Given the description of an element on the screen output the (x, y) to click on. 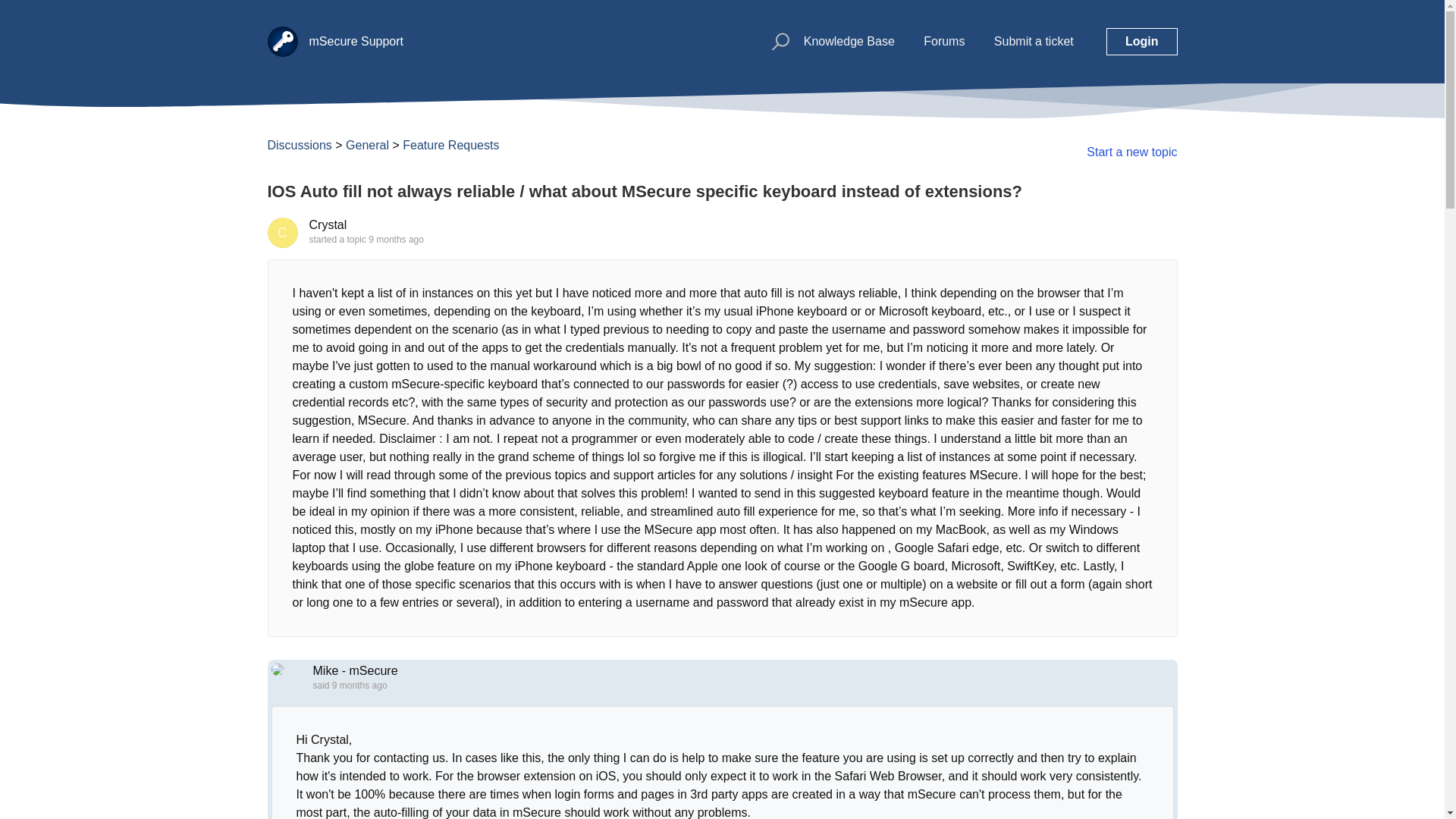
Knowledge Base (849, 41)
Feature Requests (451, 144)
Login (1141, 41)
Start a new topic (1131, 151)
Start a new topic (1131, 151)
Submit a ticket (1034, 41)
Mon, Oct 30, 2023 at  3:20 PM (359, 685)
Discussions (298, 144)
Sat, Oct 28, 2023 at  8:01 PM (395, 239)
Forums (943, 41)
General (367, 144)
